Given the description of an element on the screen output the (x, y) to click on. 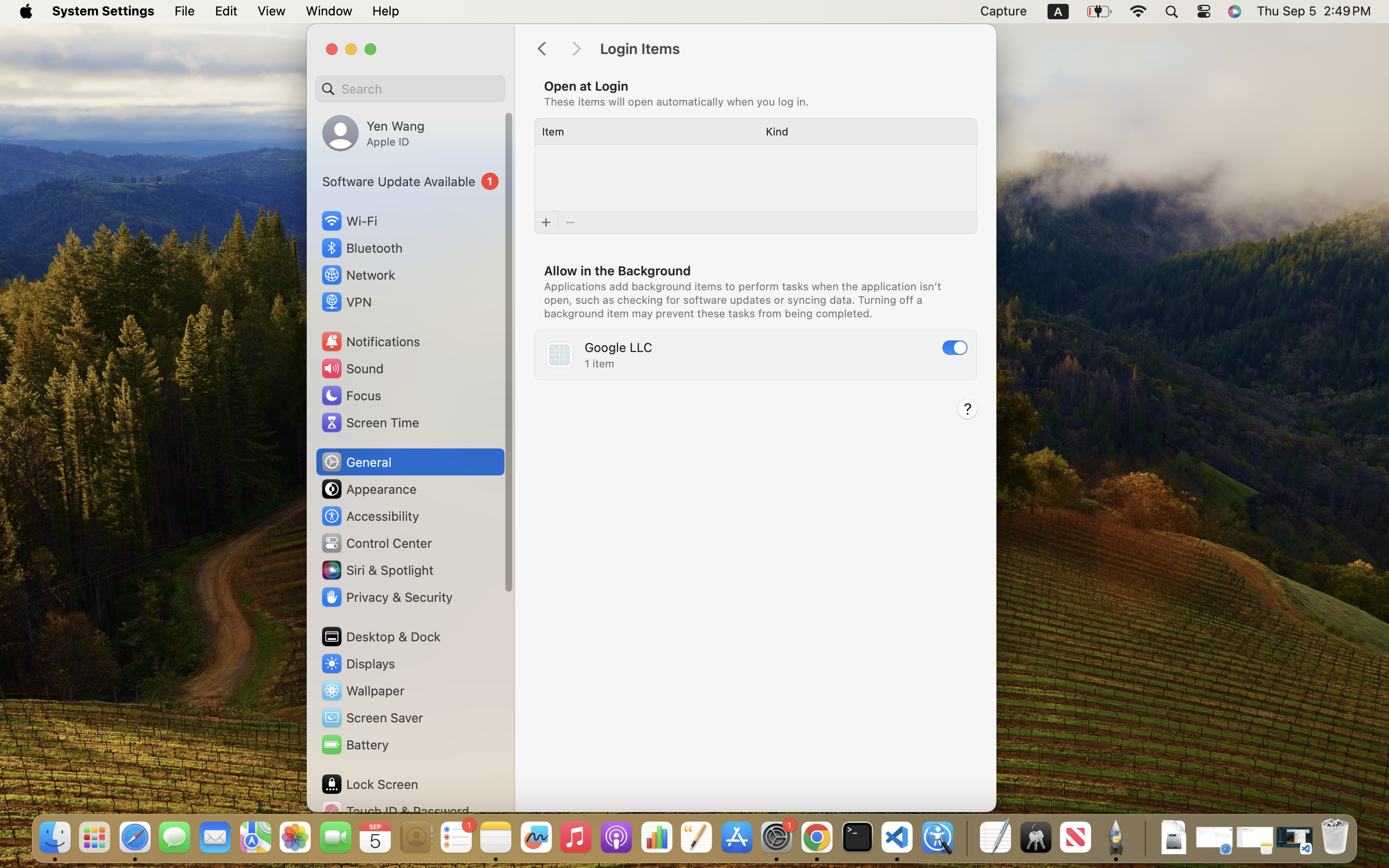
Desktop & Dock Element type: AXStaticText (380, 636)
1 Element type: AXCheckBox (954, 347)
1 item Element type: AXStaticText (599, 363)
Touch ID & Password Element type: AXStaticText (394, 810)
General Element type: AXStaticText (355, 461)
